Given the description of an element on the screen output the (x, y) to click on. 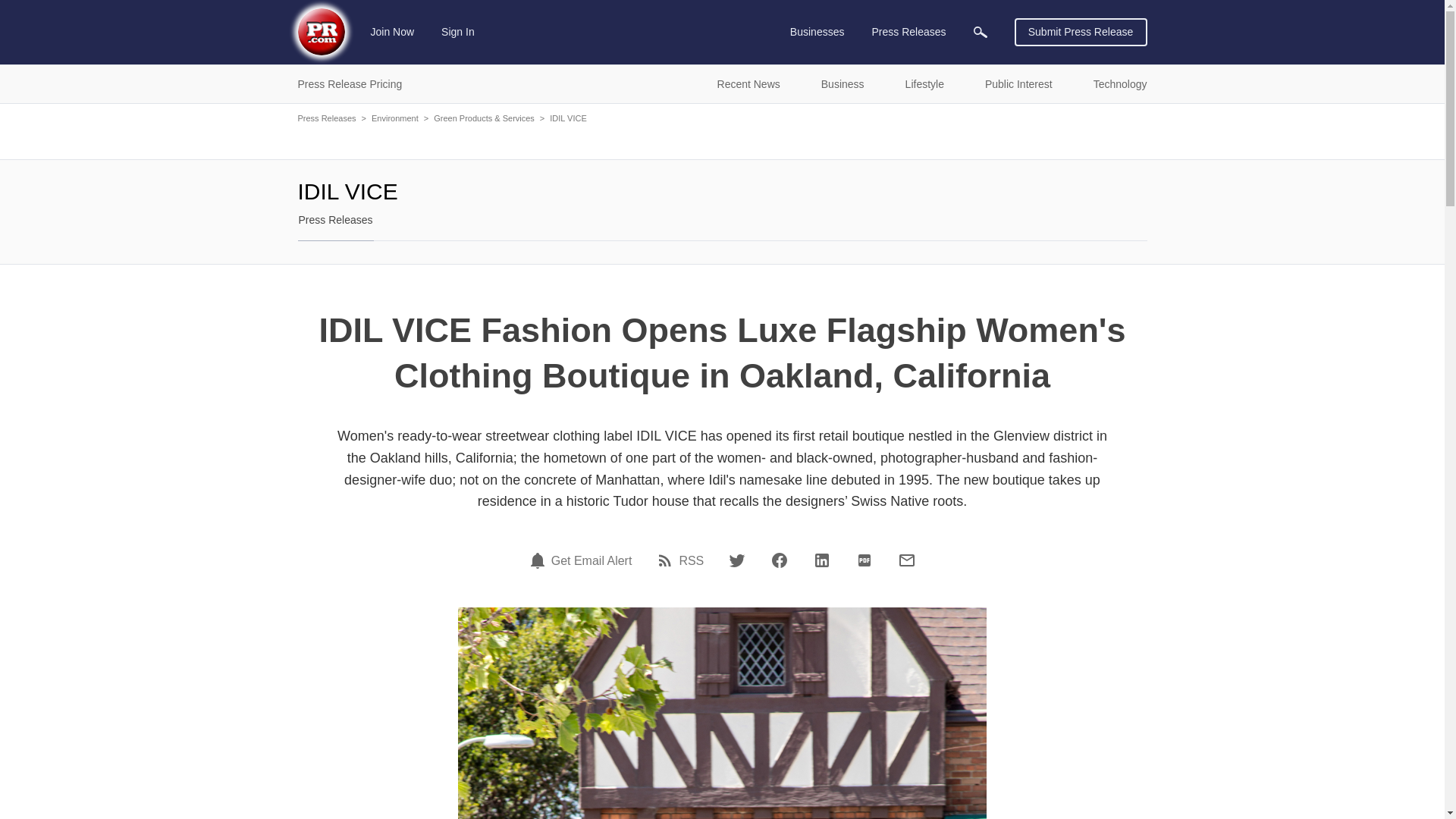
Submit Press Release (1080, 31)
Sign In (458, 31)
Press Releases (908, 31)
Join Now (392, 31)
Businesses (817, 31)
